Given the description of an element on the screen output the (x, y) to click on. 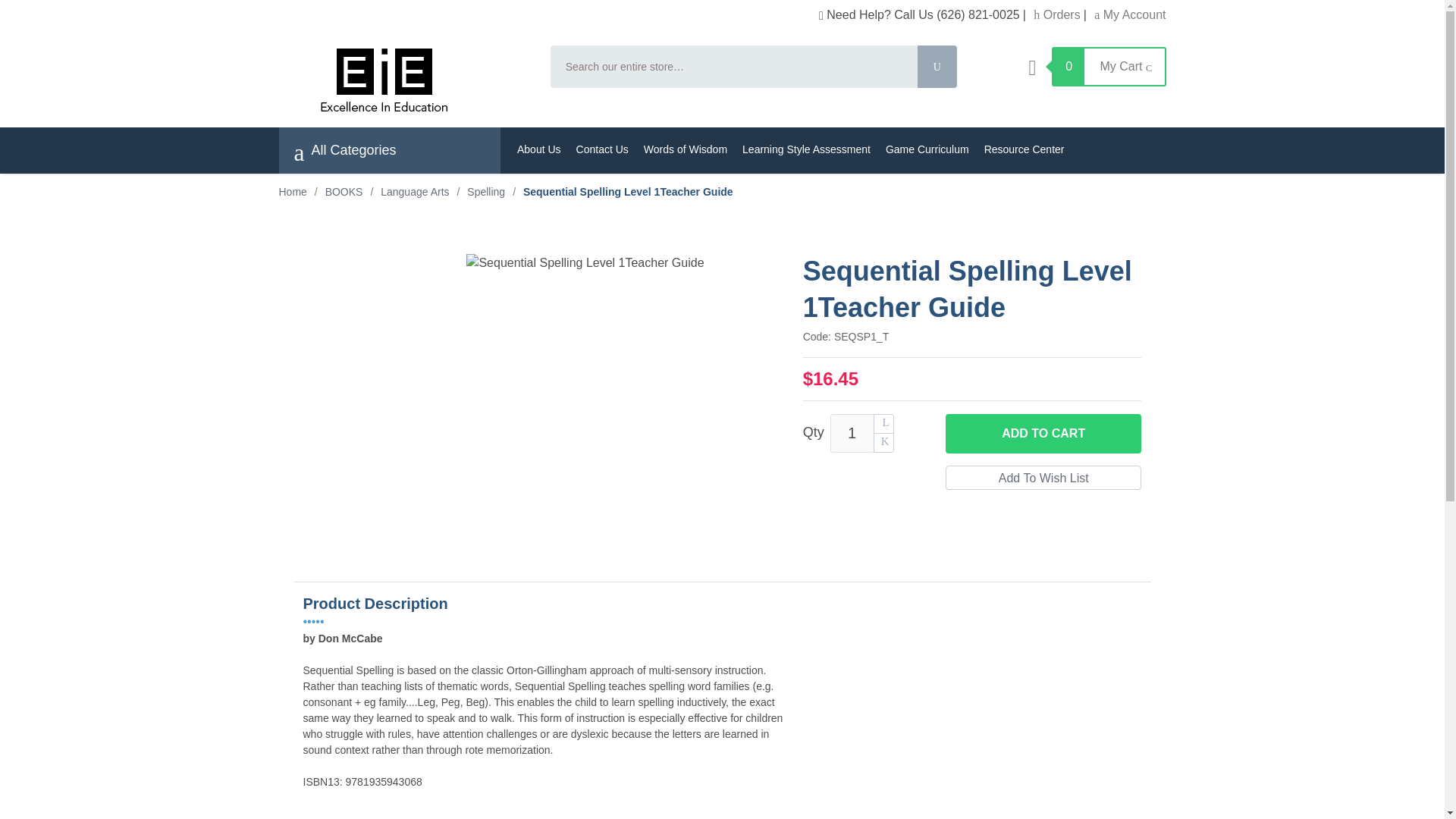
Add To Wish List (1042, 477)
Spelling (486, 191)
Home (293, 191)
BOOKS (343, 191)
Excellence In Education (405, 79)
Search (936, 66)
Language Arts (414, 191)
1 (852, 433)
